Given the description of an element on the screen output the (x, y) to click on. 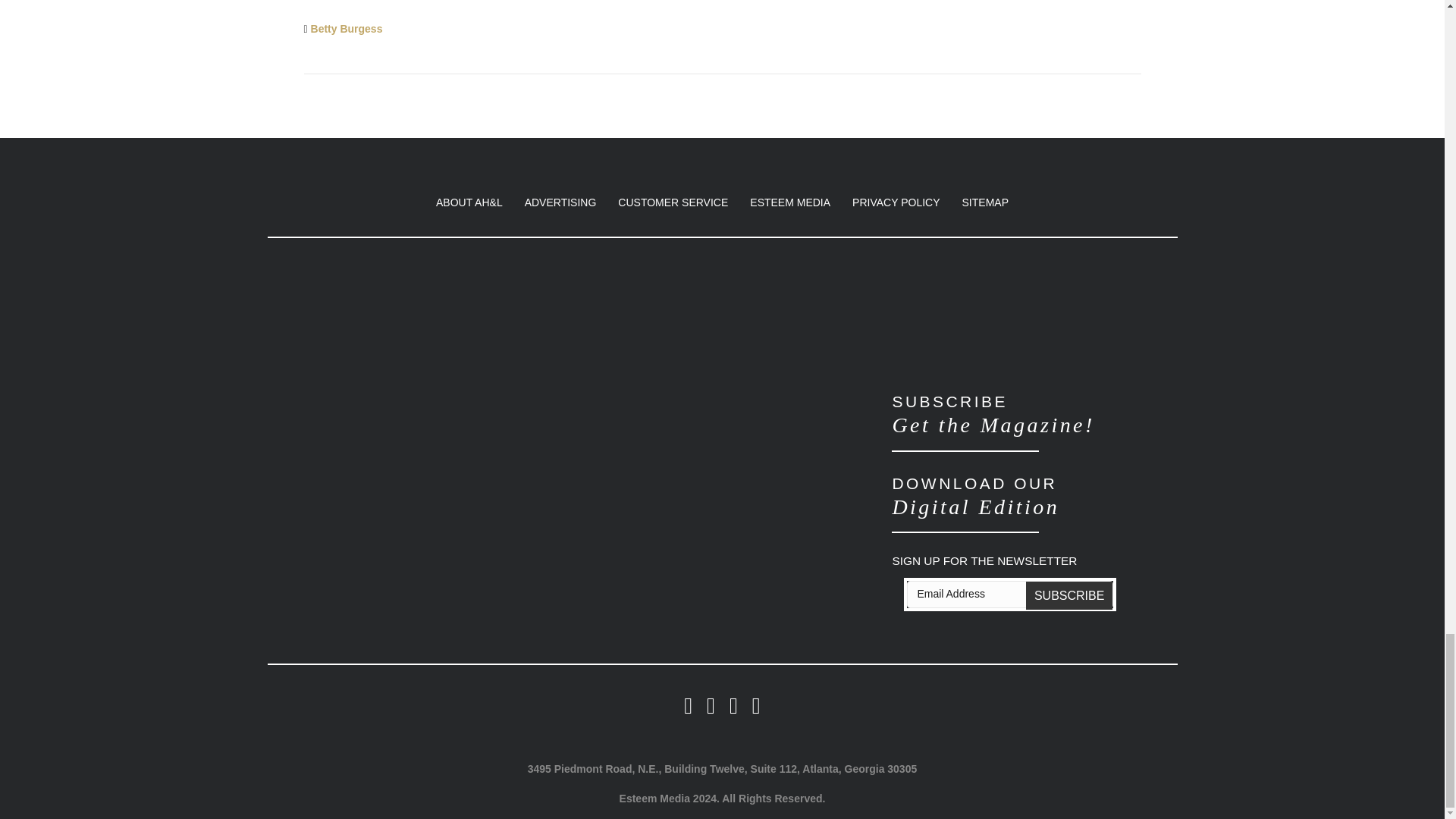
Subscribe (1069, 595)
Email Address (1010, 594)
